Given the description of an element on the screen output the (x, y) to click on. 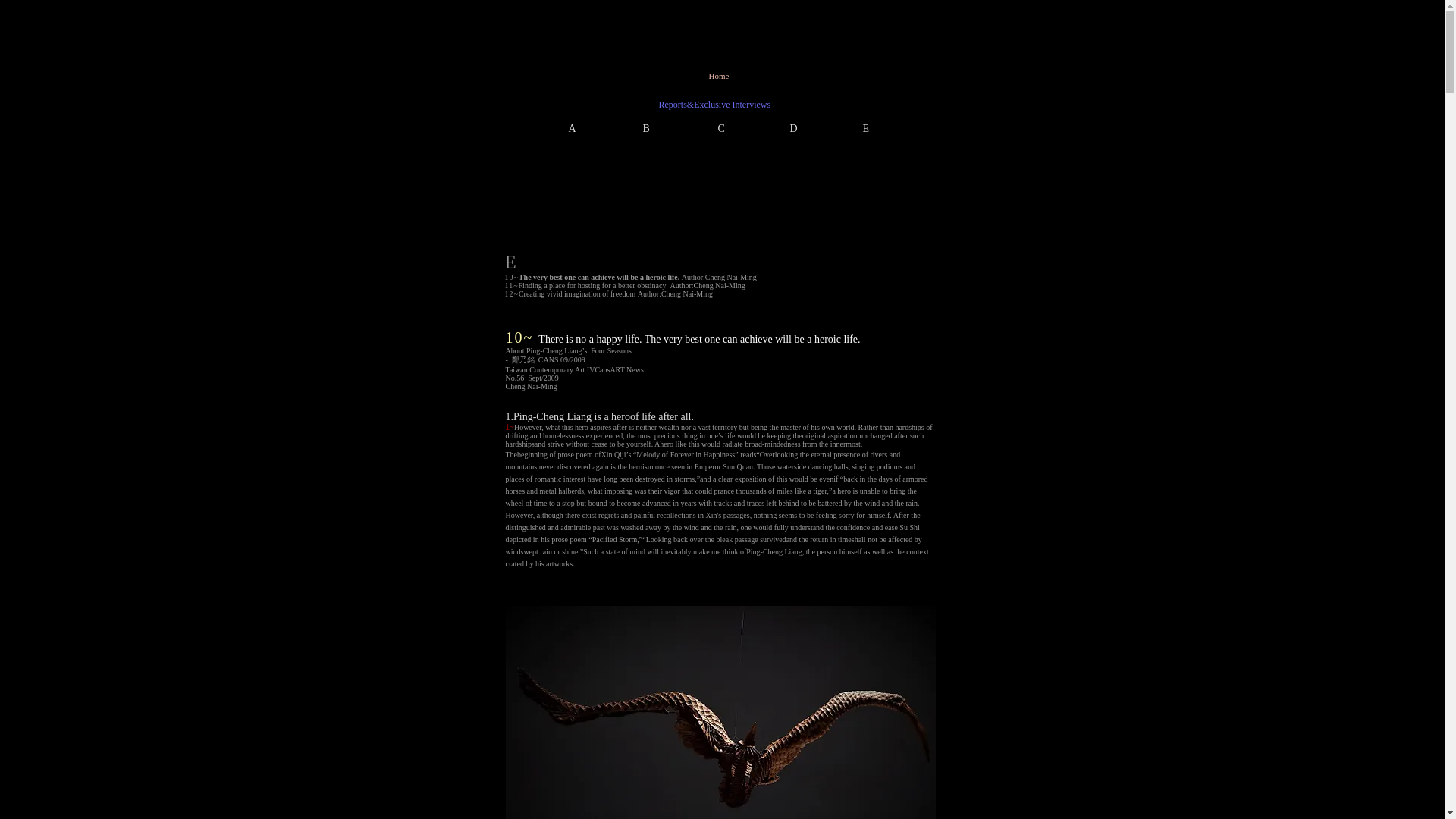
Home (718, 75)
f01.jpg (719, 712)
